Given the description of an element on the screen output the (x, y) to click on. 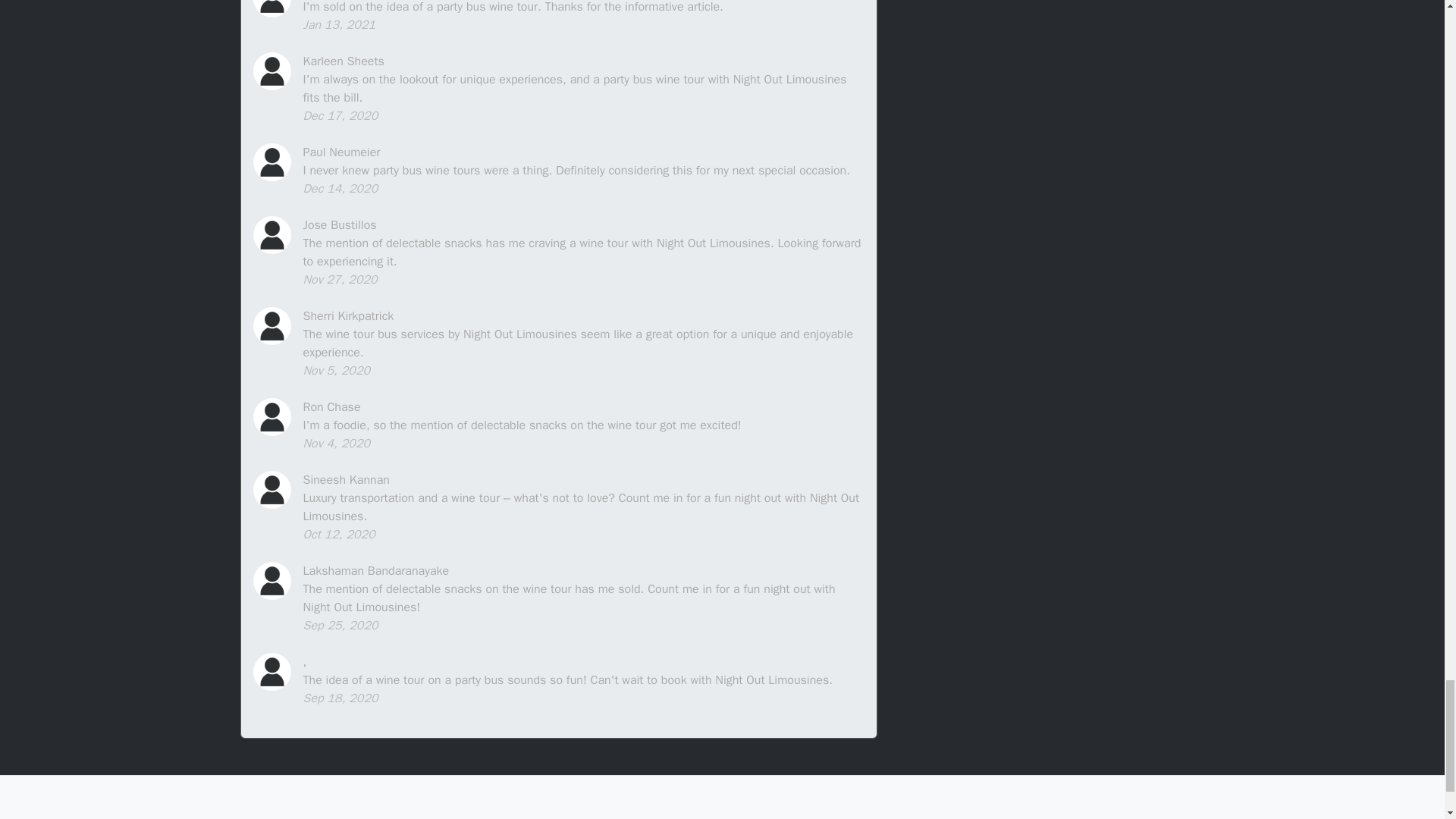
Terms of service (762, 815)
Privacy policy (672, 815)
